Given the description of an element on the screen output the (x, y) to click on. 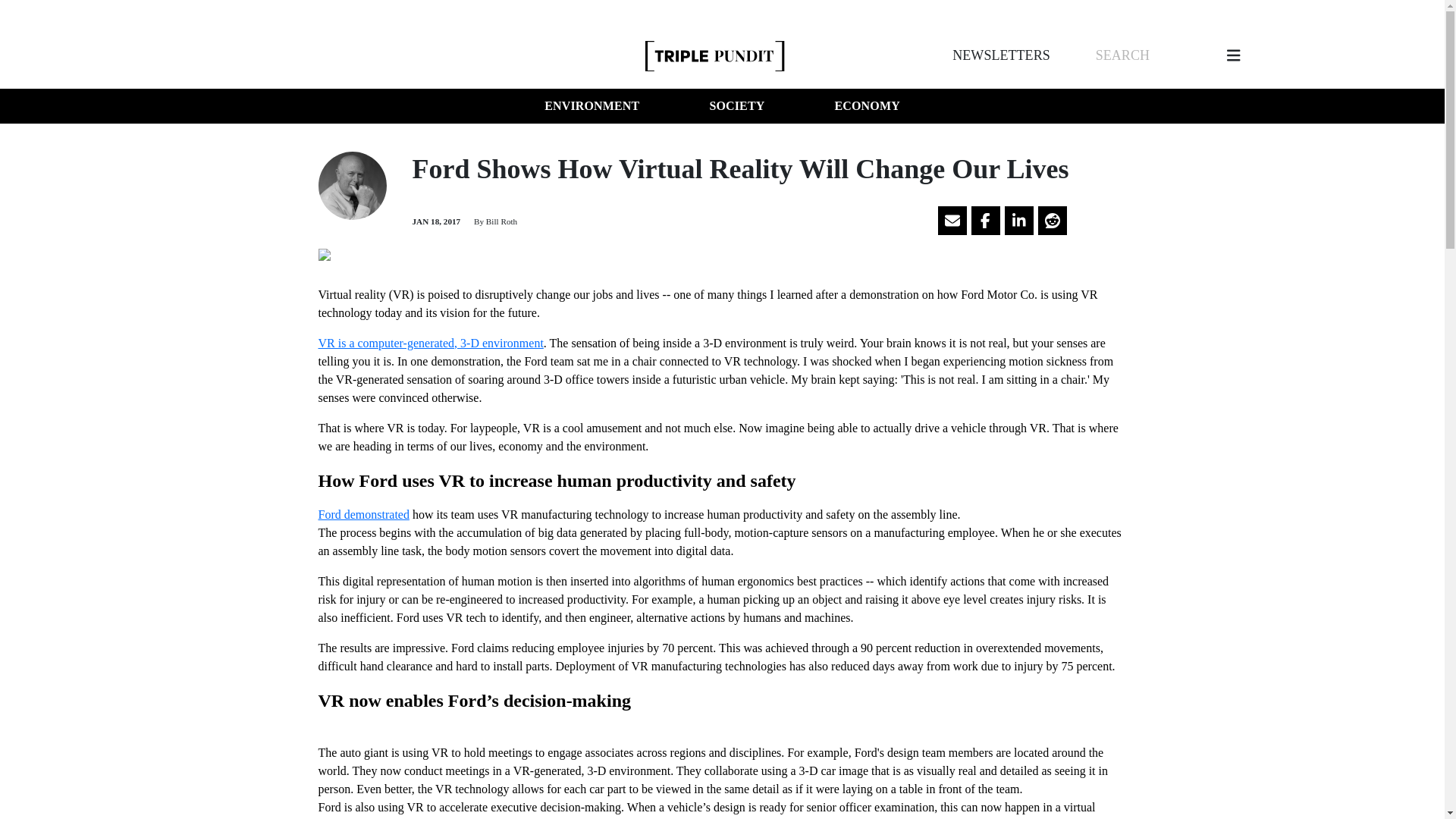
By Bill Roth (493, 221)
ECONOMY (866, 105)
VR is a computer-generated, 3-D environment (430, 342)
SEARCH (1122, 55)
Ford demonstrated (363, 513)
SOCIETY (736, 105)
ENVIRONMENT (591, 105)
